Given the description of an element on the screen output the (x, y) to click on. 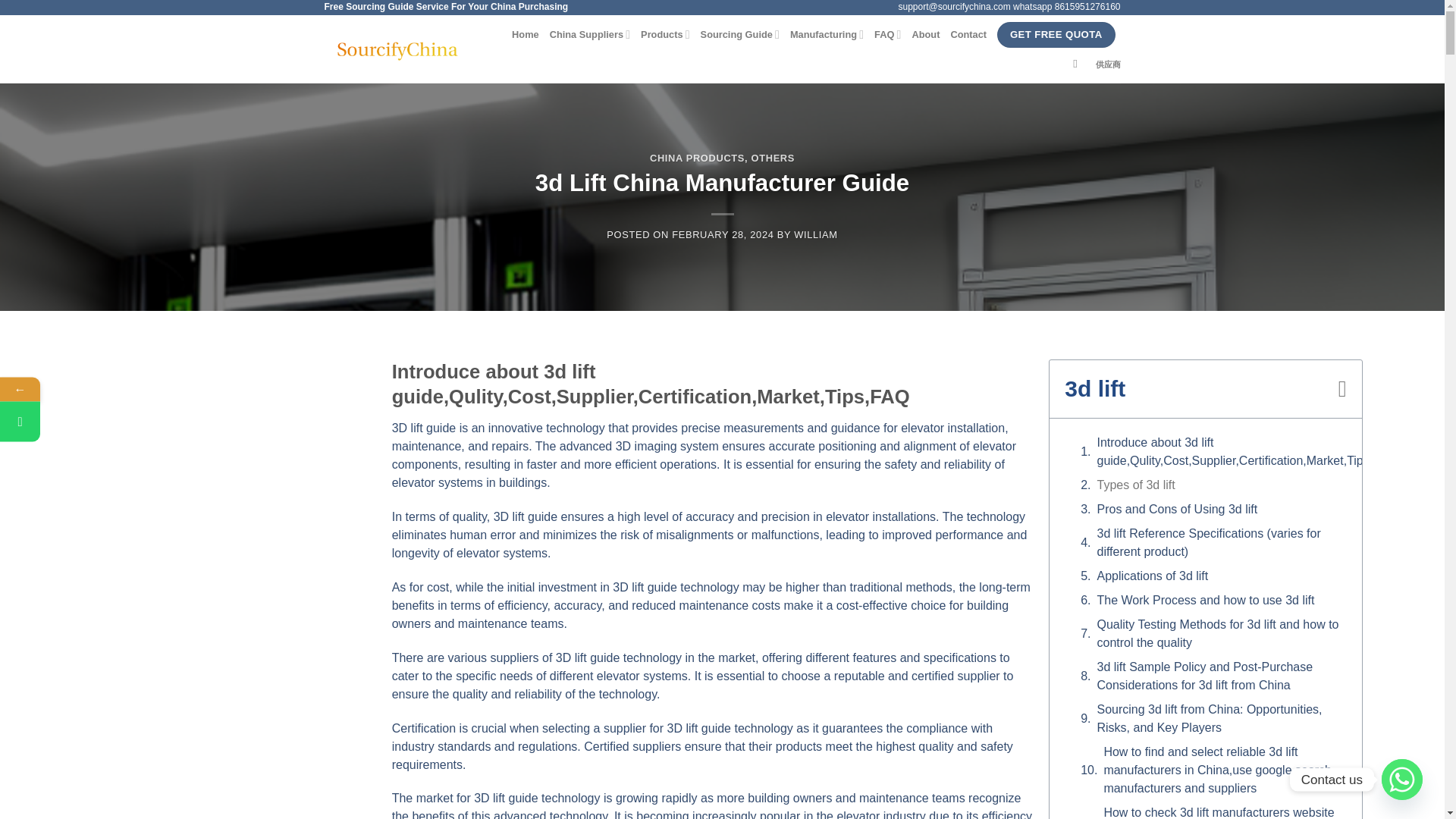
WhatsApp (92, 422)
Sourcing Guide (739, 34)
Products (665, 34)
Home (525, 34)
China Suppliers (590, 34)
WhatsApp (20, 422)
